Given the description of an element on the screen output the (x, y) to click on. 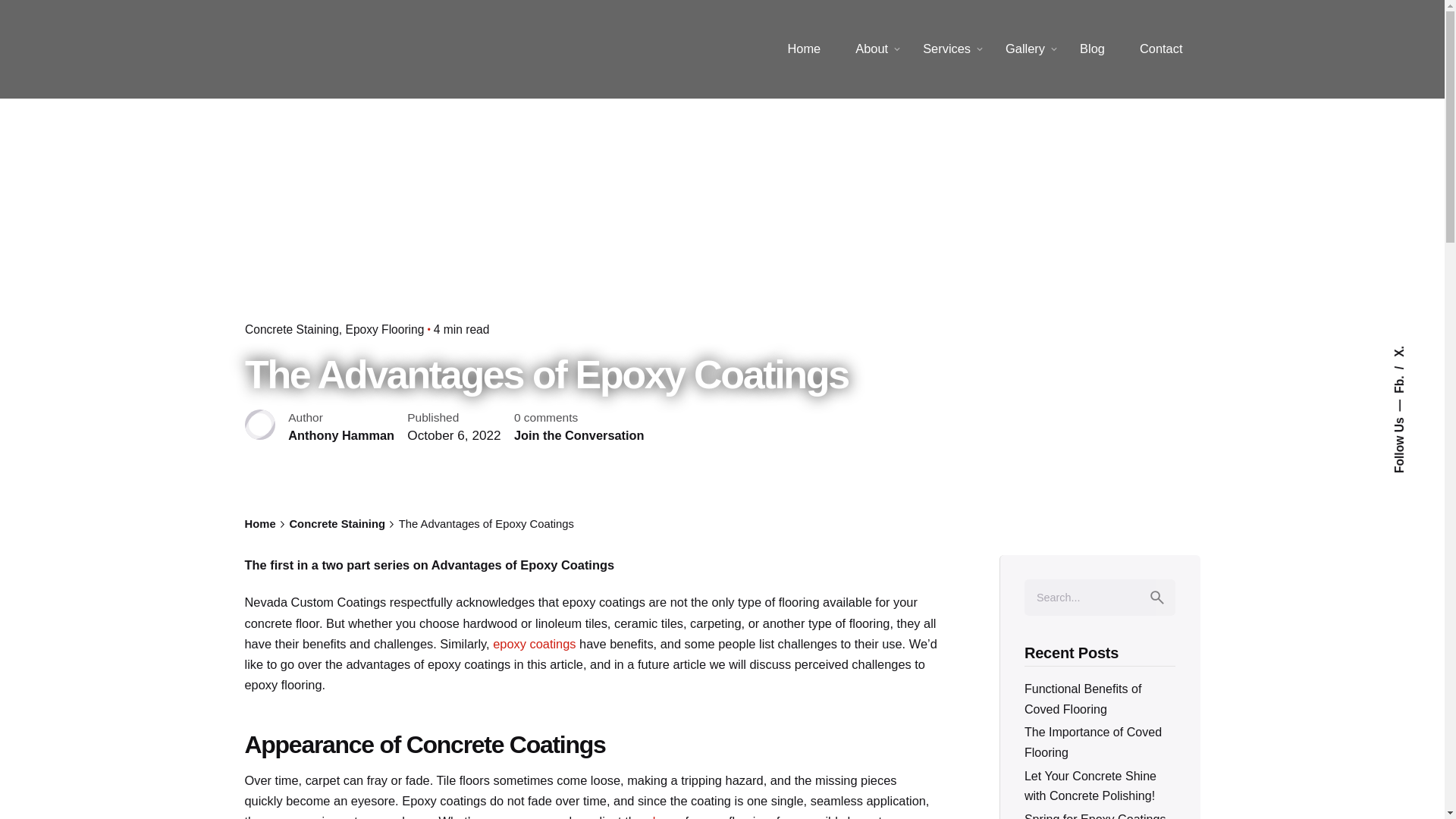
Fb. (1403, 378)
About (871, 49)
Contact (1160, 49)
Gallery (1025, 49)
Home (804, 49)
Services (946, 49)
Blog (1092, 49)
